Given the description of an element on the screen output the (x, y) to click on. 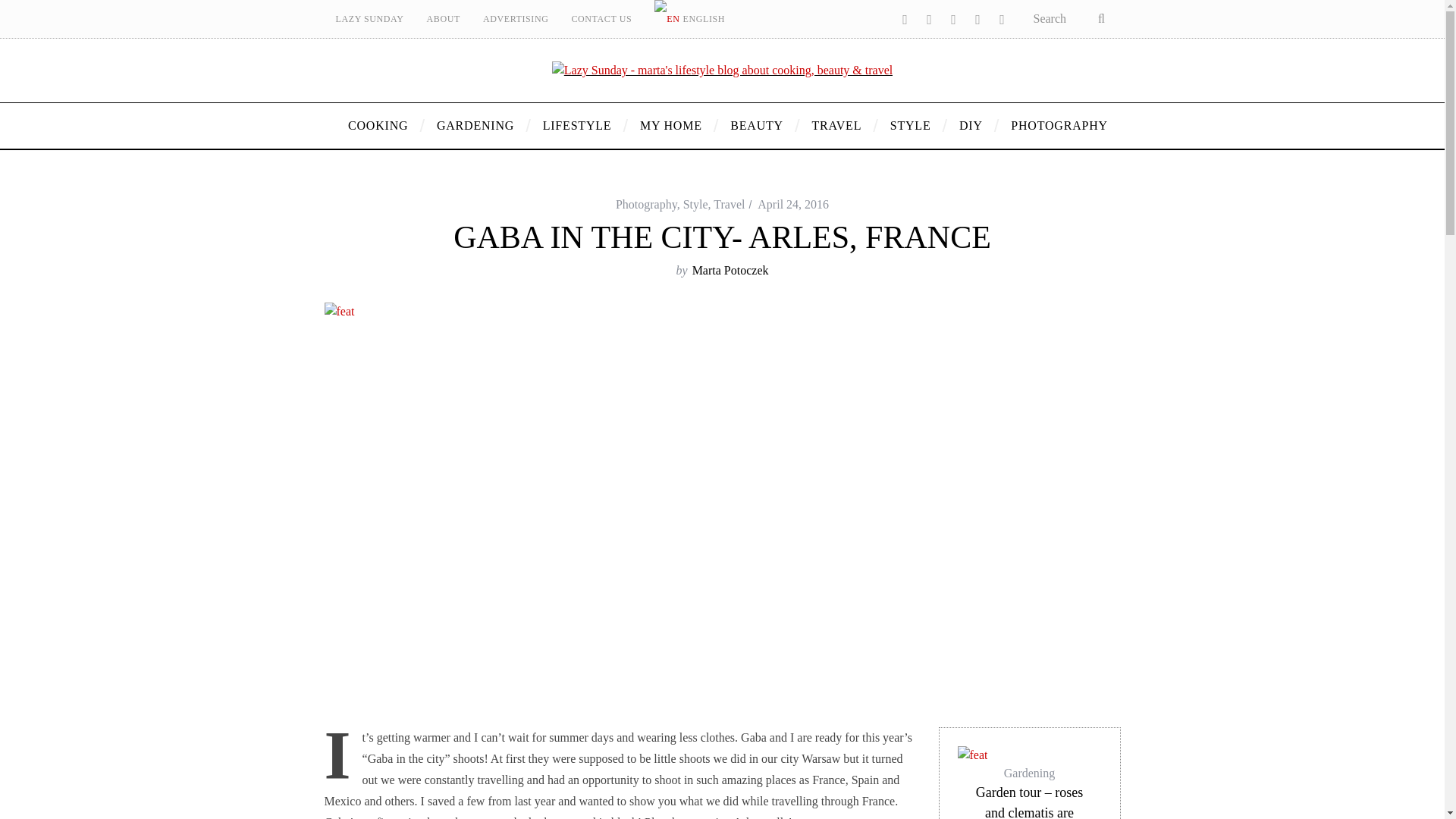
BEAUTY (759, 125)
ABOUT (442, 18)
Search (1071, 18)
PHOTOGRAPHY (1053, 125)
ADVERTISING (515, 18)
CONTACT US (601, 18)
STYLE (913, 125)
ENGLISH (689, 18)
TRAVEL (838, 125)
DIY (972, 125)
